Given the description of an element on the screen output the (x, y) to click on. 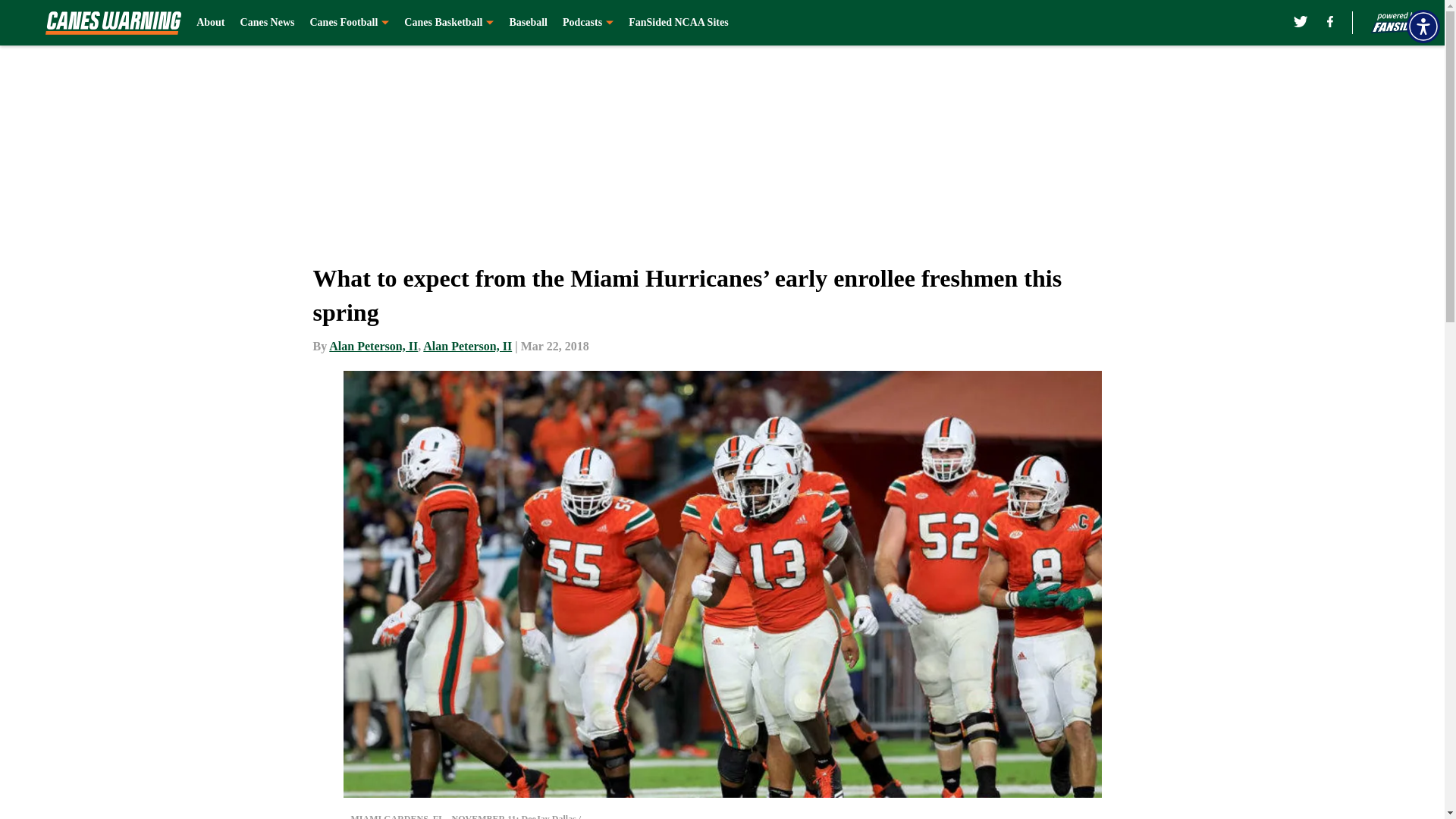
Canes News (267, 22)
Accessibility Menu (1422, 26)
Baseball (527, 22)
About (210, 22)
FanSided NCAA Sites (678, 22)
Alan Peterson, II (467, 345)
Alan Peterson, II (373, 345)
